Given the description of an element on the screen output the (x, y) to click on. 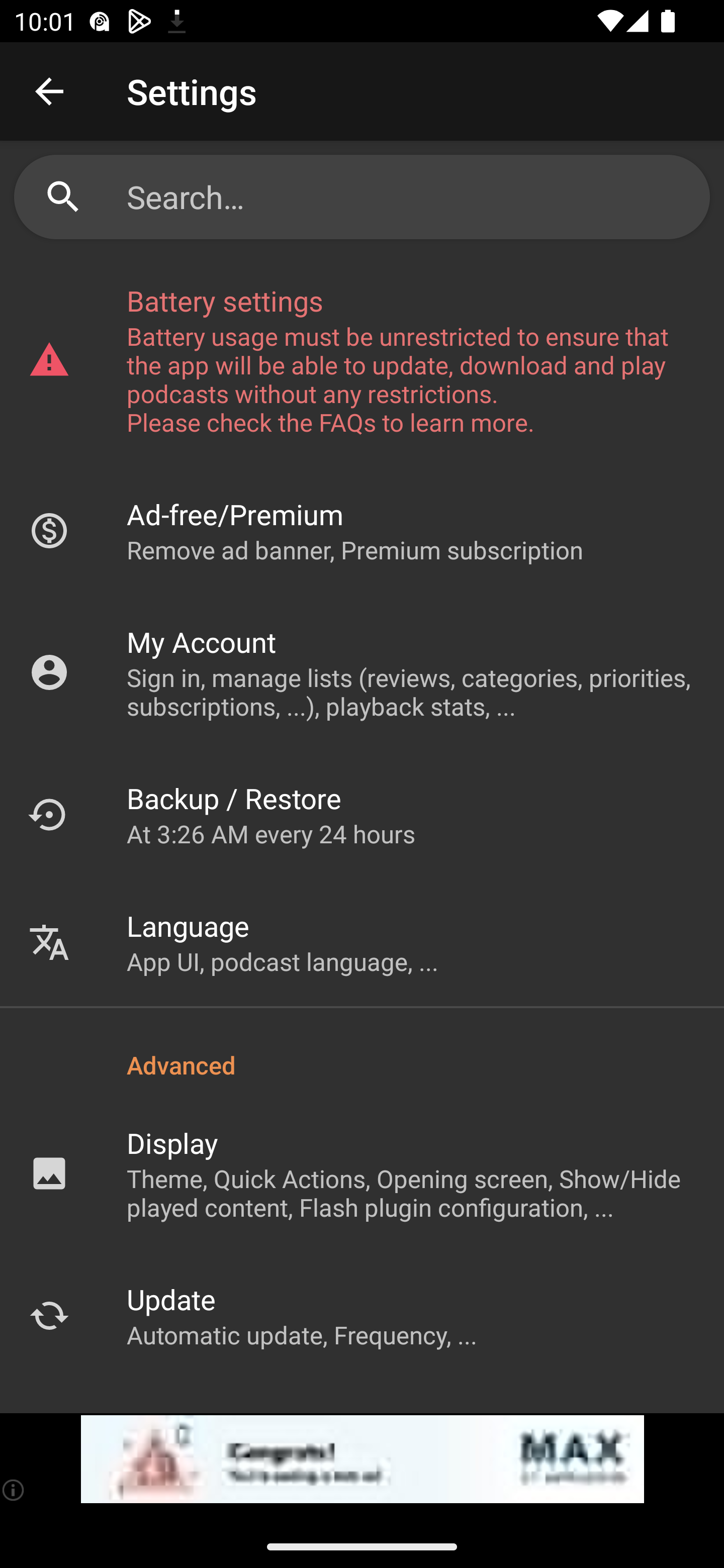
Navigate up (49, 91)
Search… (361, 197)
Search… (410, 196)
Backup / Restore At 3:26 AM every 24 hours (362, 814)
Language App UI, podcast language, ... (362, 942)
Update Automatic update, Frequency, ... (362, 1315)
app-monetization (362, 1459)
(i) (14, 1489)
